Given the description of an element on the screen output the (x, y) to click on. 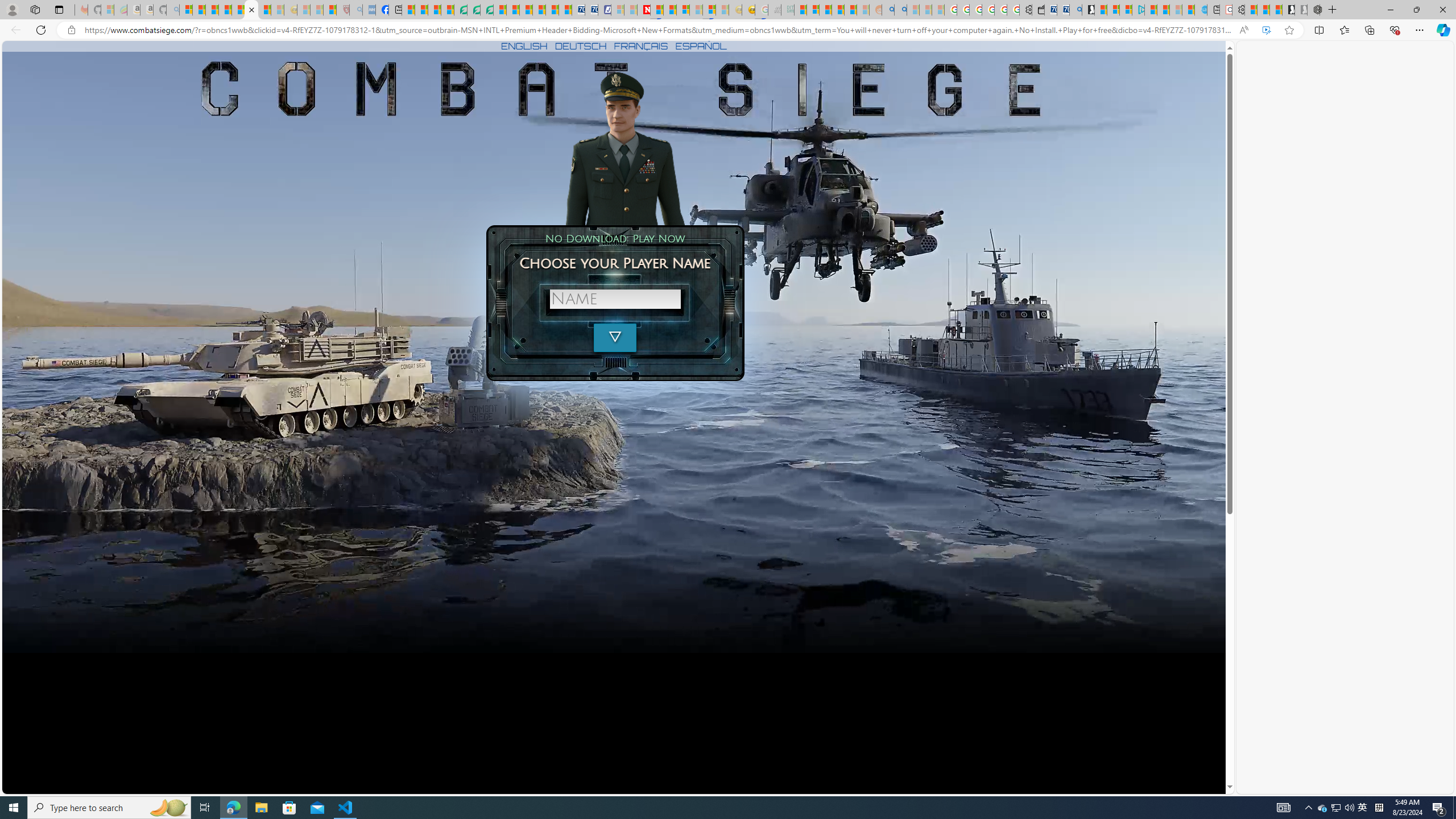
Local - MSN (329, 9)
